Given the description of an element on the screen output the (x, y) to click on. 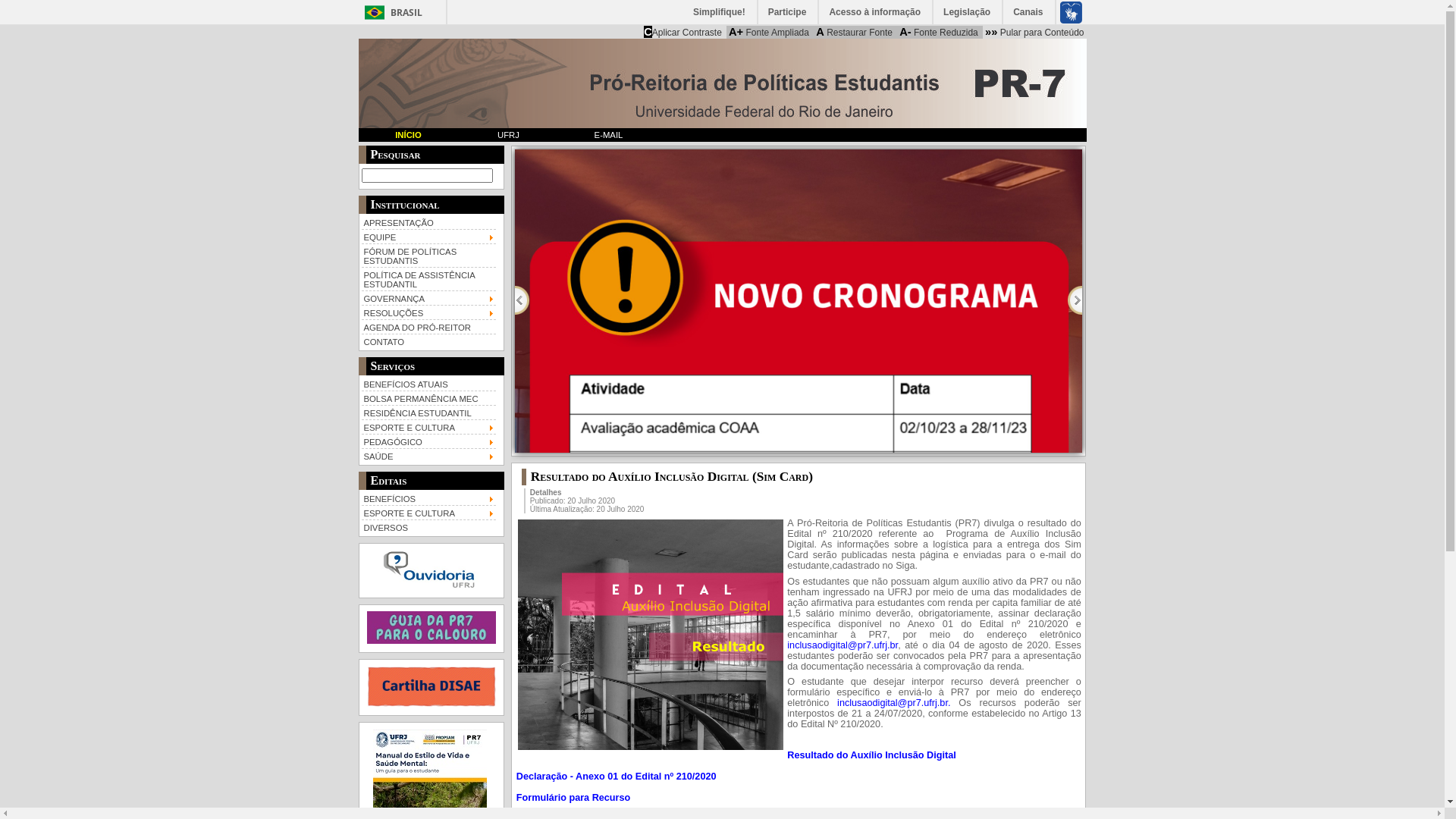
ESPORTE E CULTURA Element type: text (427, 426)
Simplifique! Element type: text (719, 11)
BRASIL Element type: text (389, 12)
inclusaodigital@pr7.ufrj.br Element type: text (892, 702)
Canais Element type: text (1028, 11)
DIVERSOS Element type: text (427, 526)
EQUIPE Element type: text (427, 236)
A+ Fonte Ampliada Element type: text (768, 31)
CAplicar Contraste Element type: text (682, 31)
Next Element type: text (1074, 299)
inclusaodigital@pr7.ufrj.br Element type: text (842, 645)
A Restaurar Fonte Element type: text (853, 31)
CONTATO Element type: text (427, 340)
E-MAIL Element type: text (608, 134)
ESPORTE E CULTURA Element type: text (427, 512)
Participe Element type: text (788, 11)
Previous Element type: text (521, 299)
A- Fonte Reduzida Element type: text (938, 31)
UFRJ Element type: text (508, 134)
inclusaodigital@pr7.ufrj.br. Element type: text (893, 702)
